Given the description of an element on the screen output the (x, y) to click on. 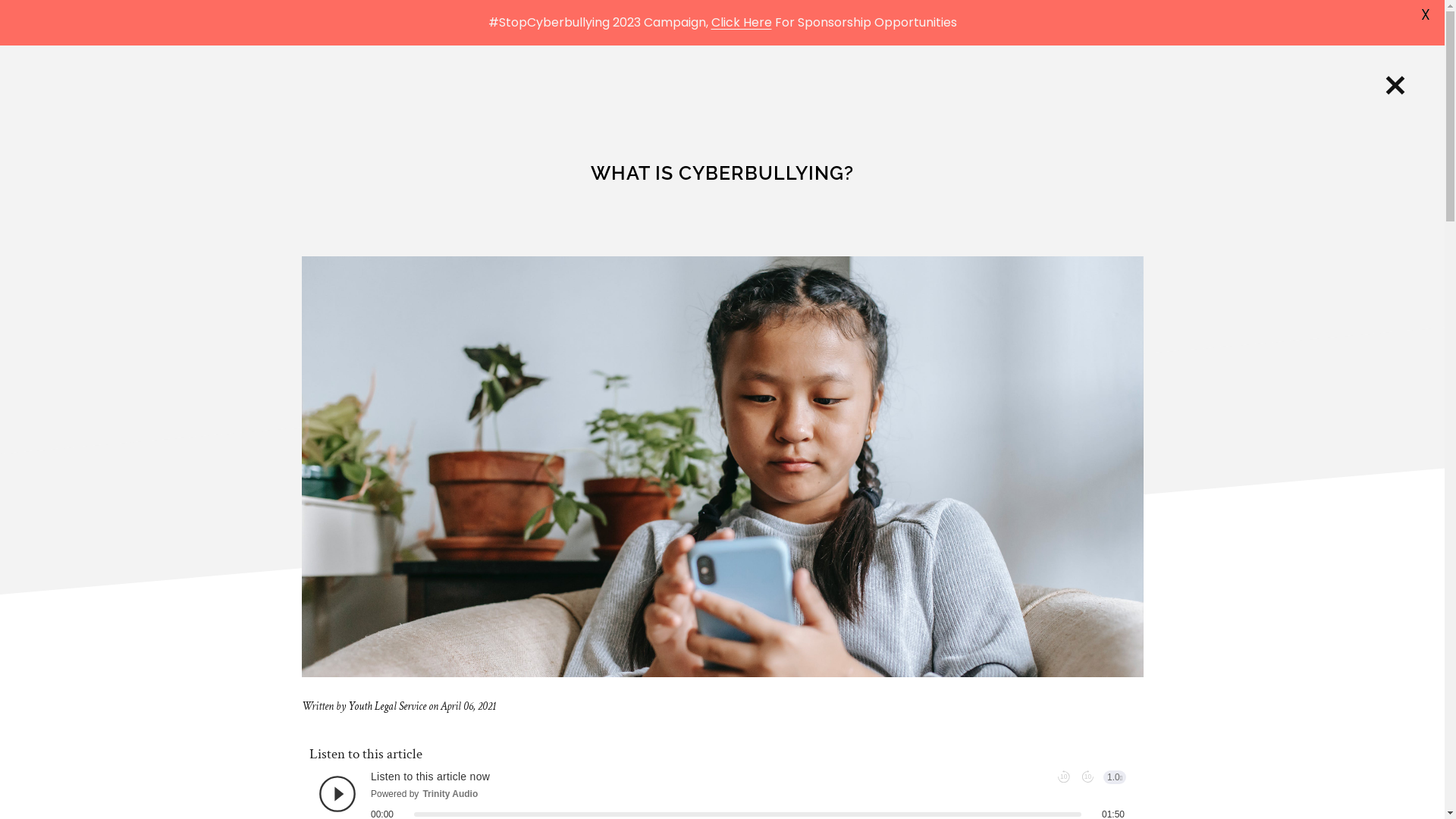
Click Here Element type: text (741, 22)
Youth Legal Service Element type: text (386, 706)
